Given the description of an element on the screen output the (x, y) to click on. 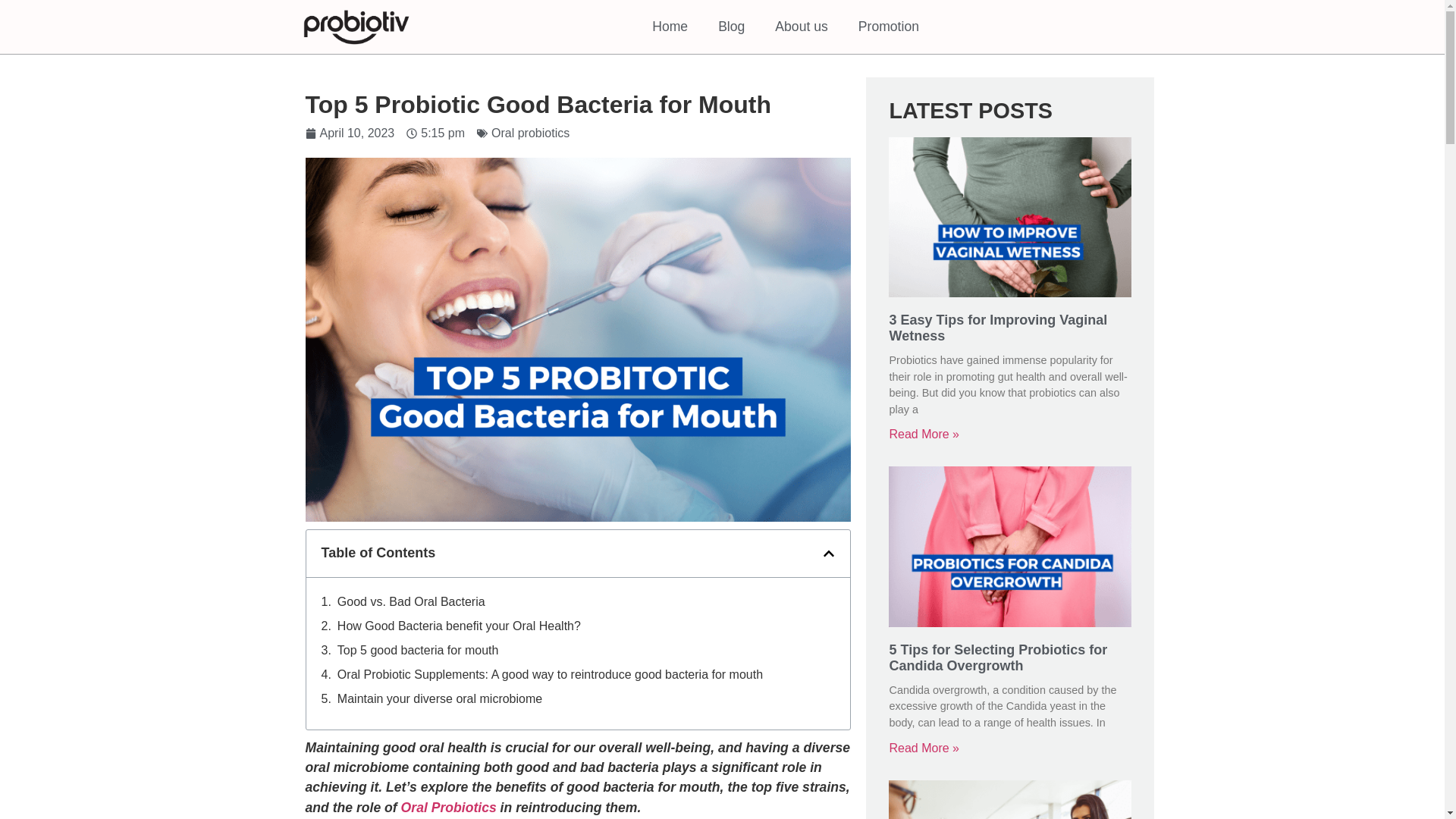
Home (670, 26)
About us (801, 26)
Promotion (888, 26)
Top 5 good bacteria for mouth (418, 650)
Oral probiotics (530, 132)
Maintain your diverse oral microbiome (439, 699)
April 10, 2023 (349, 133)
Oral Probiotics (448, 807)
How Good Bacteria benefit your Oral Health?  (461, 626)
Blog (731, 26)
Good vs. Bad Oral Bacteria  (412, 601)
